Given the description of an element on the screen output the (x, y) to click on. 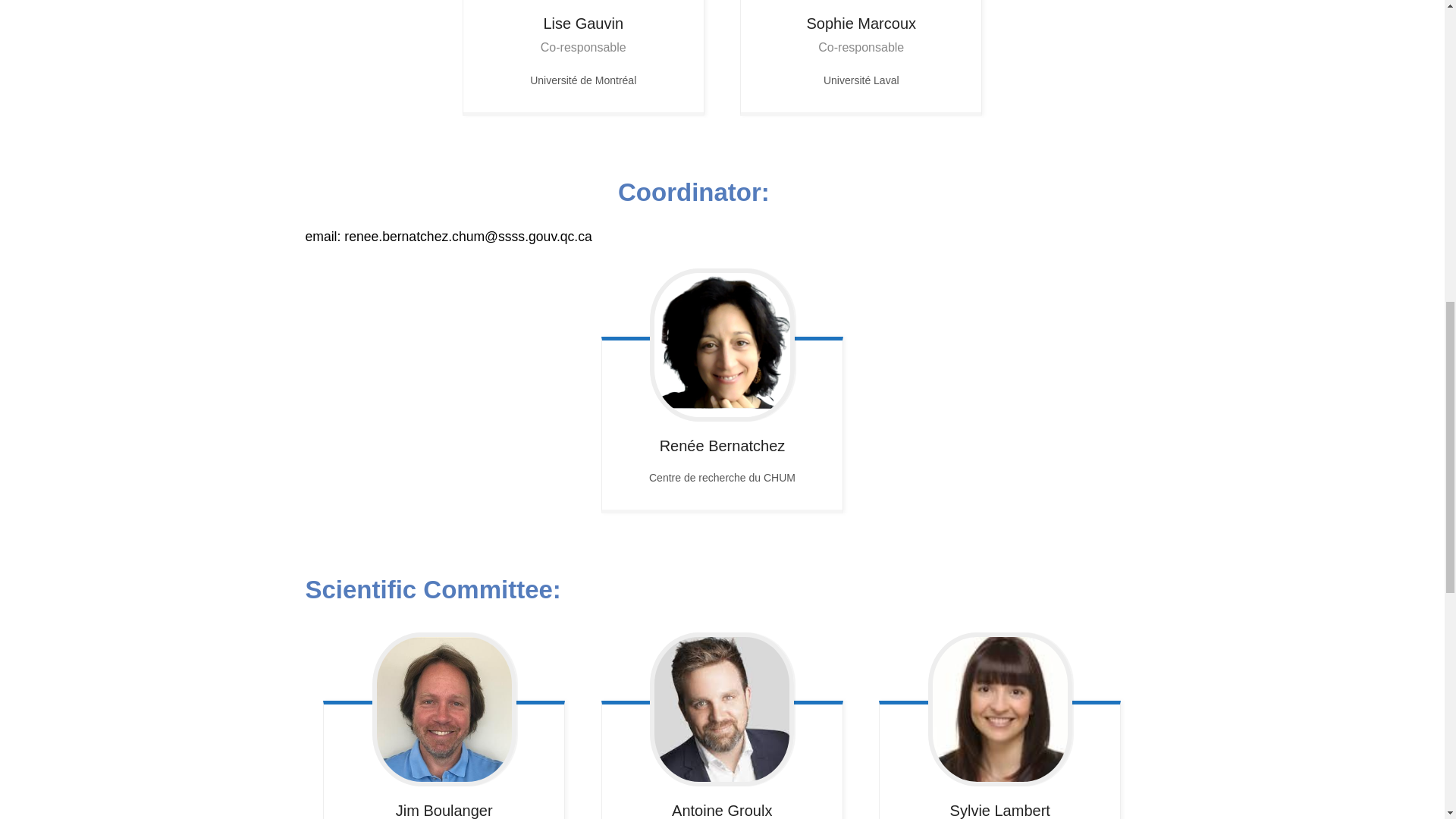
Antoine  Groulx  (722, 708)
Jim Boulanger (443, 708)
Sylvie  Lambert (999, 708)
